Given the description of an element on the screen output the (x, y) to click on. 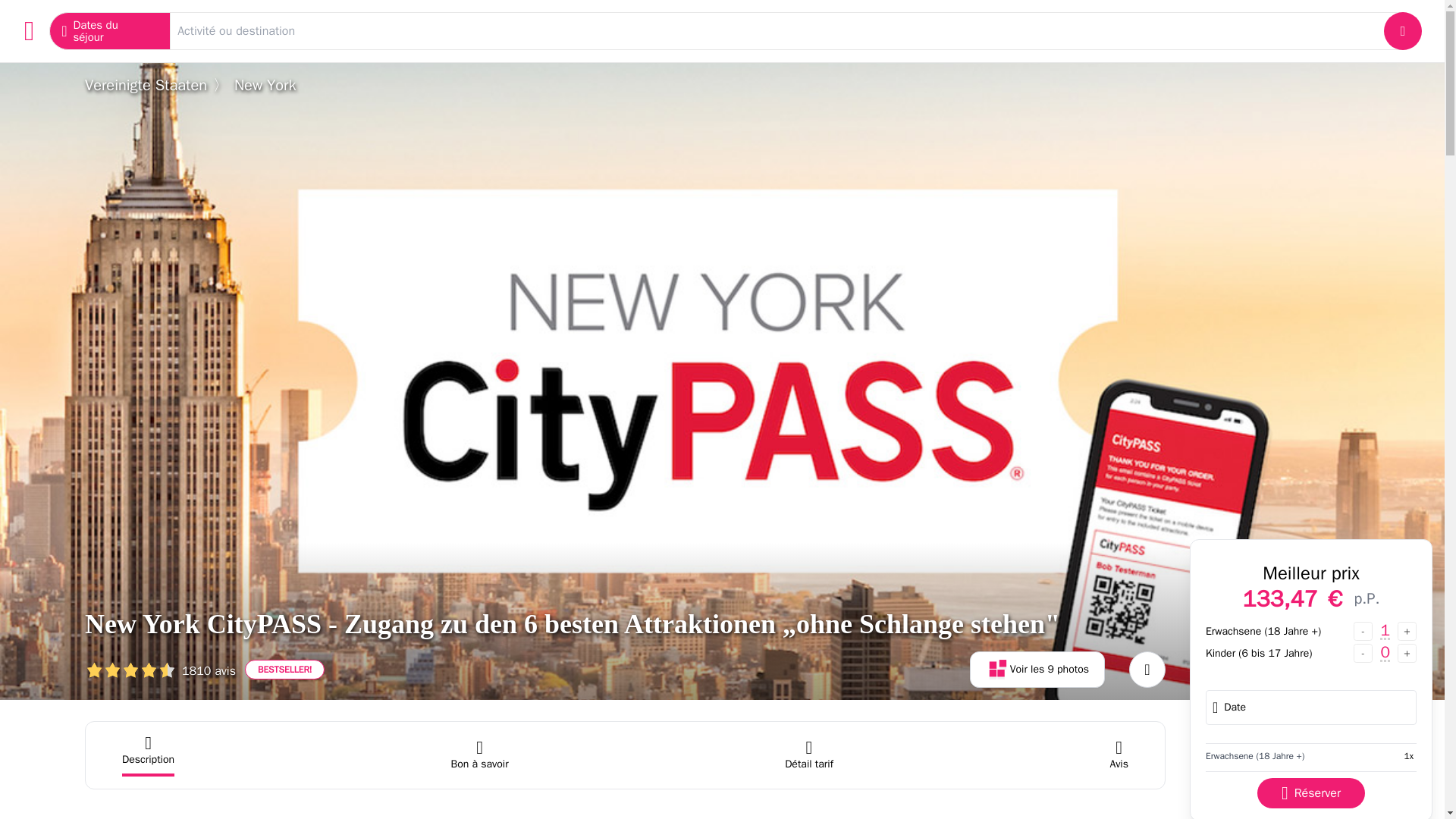
Description (148, 754)
Voir les 9 photos (1037, 669)
Vereinigte Staaten (145, 85)
1810 avis (159, 669)
- (1363, 630)
Description (148, 754)
- (1363, 652)
New York (265, 85)
